Given the description of an element on the screen output the (x, y) to click on. 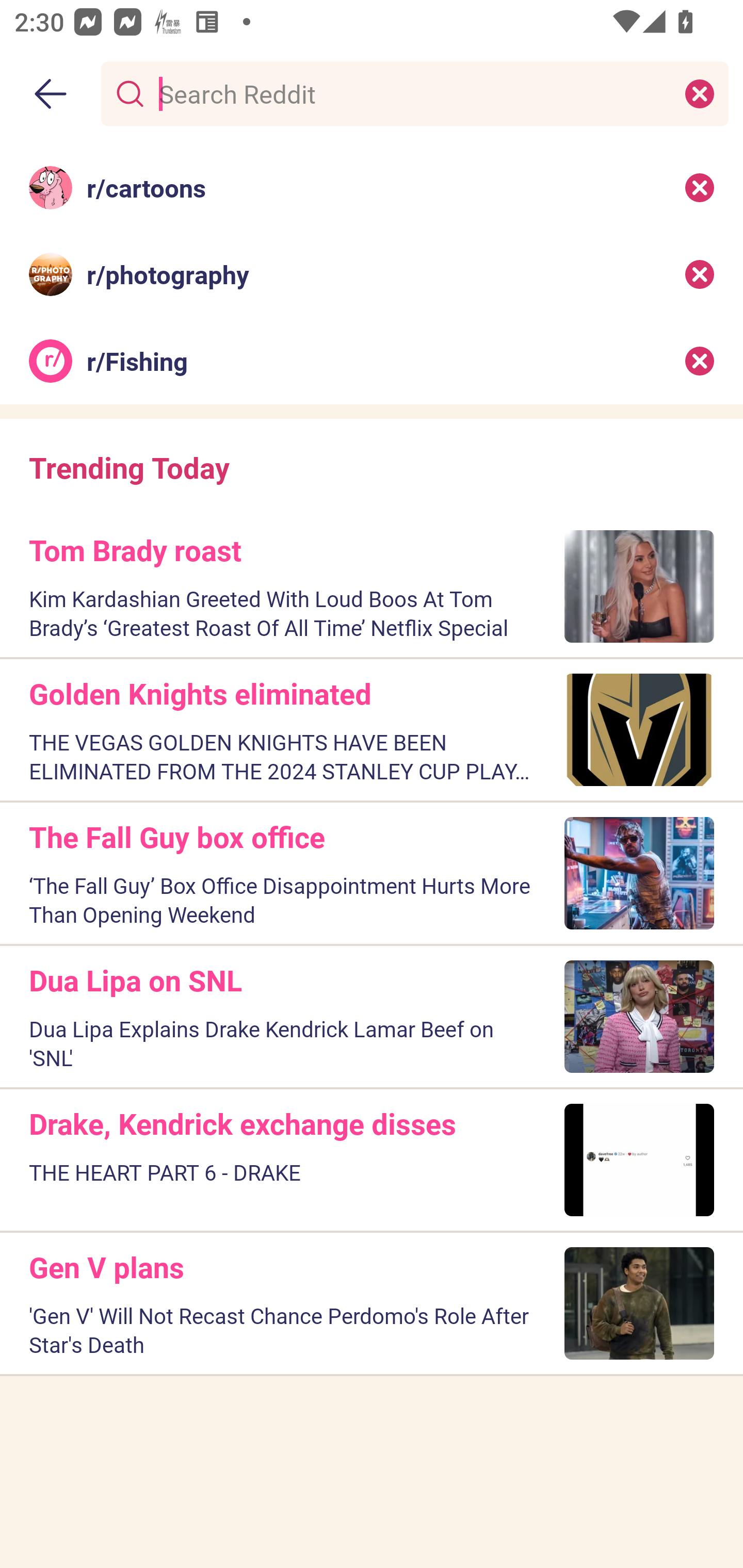
Back (50, 93)
Search Reddit (410, 93)
Clear search (699, 93)
r/cartoons Recent search: r/cartoons Remove (371, 187)
Remove (699, 187)
r/photography Recent search: r/photography Remove (371, 274)
Remove (699, 274)
r/Fishing Recent search: r/Fishing Remove (371, 361)
Remove (699, 361)
